Given the description of an element on the screen output the (x, y) to click on. 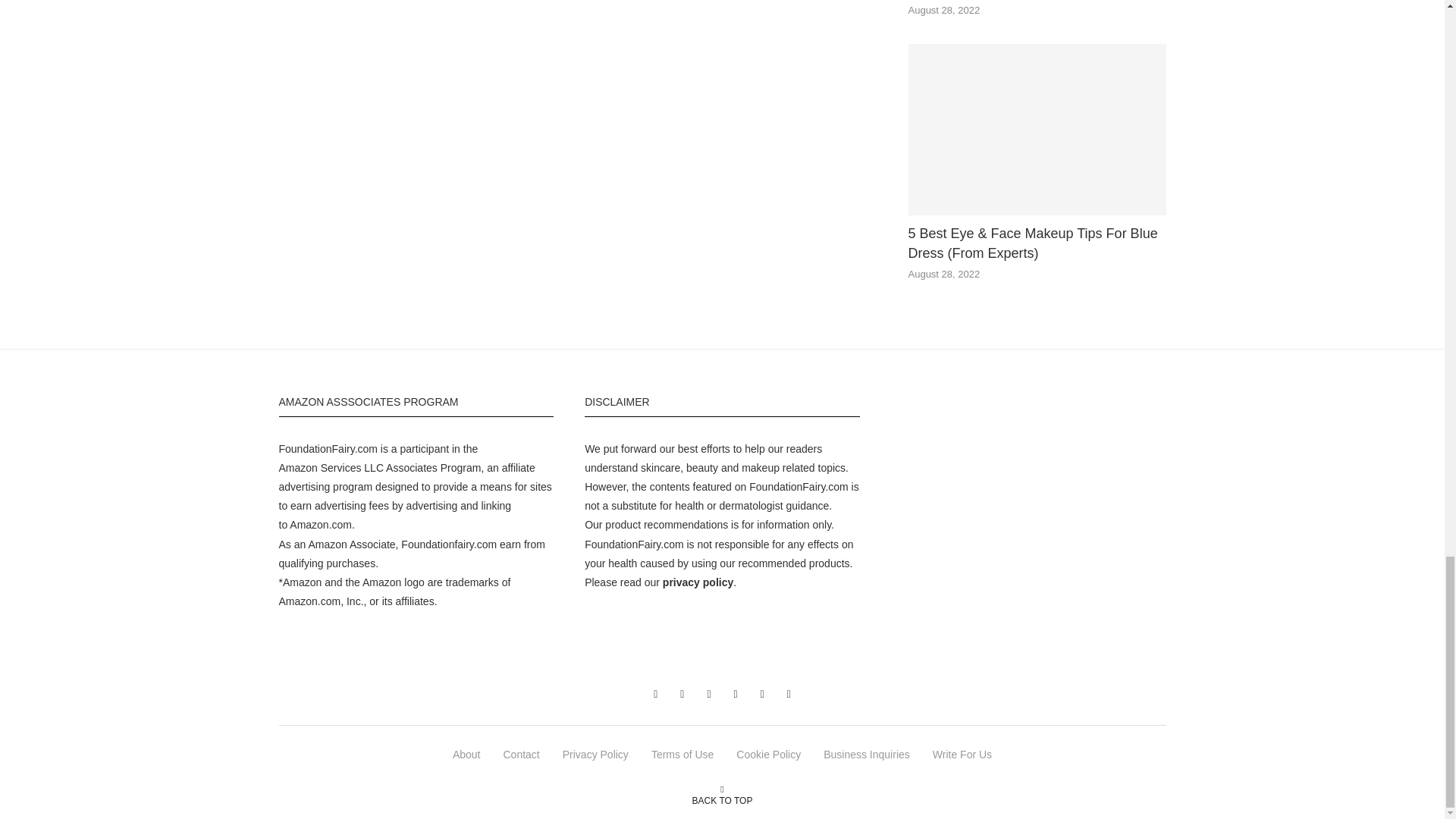
Amazon (298, 467)
Amazon.com (320, 524)
privacy policy (697, 582)
